Given the description of an element on the screen output the (x, y) to click on. 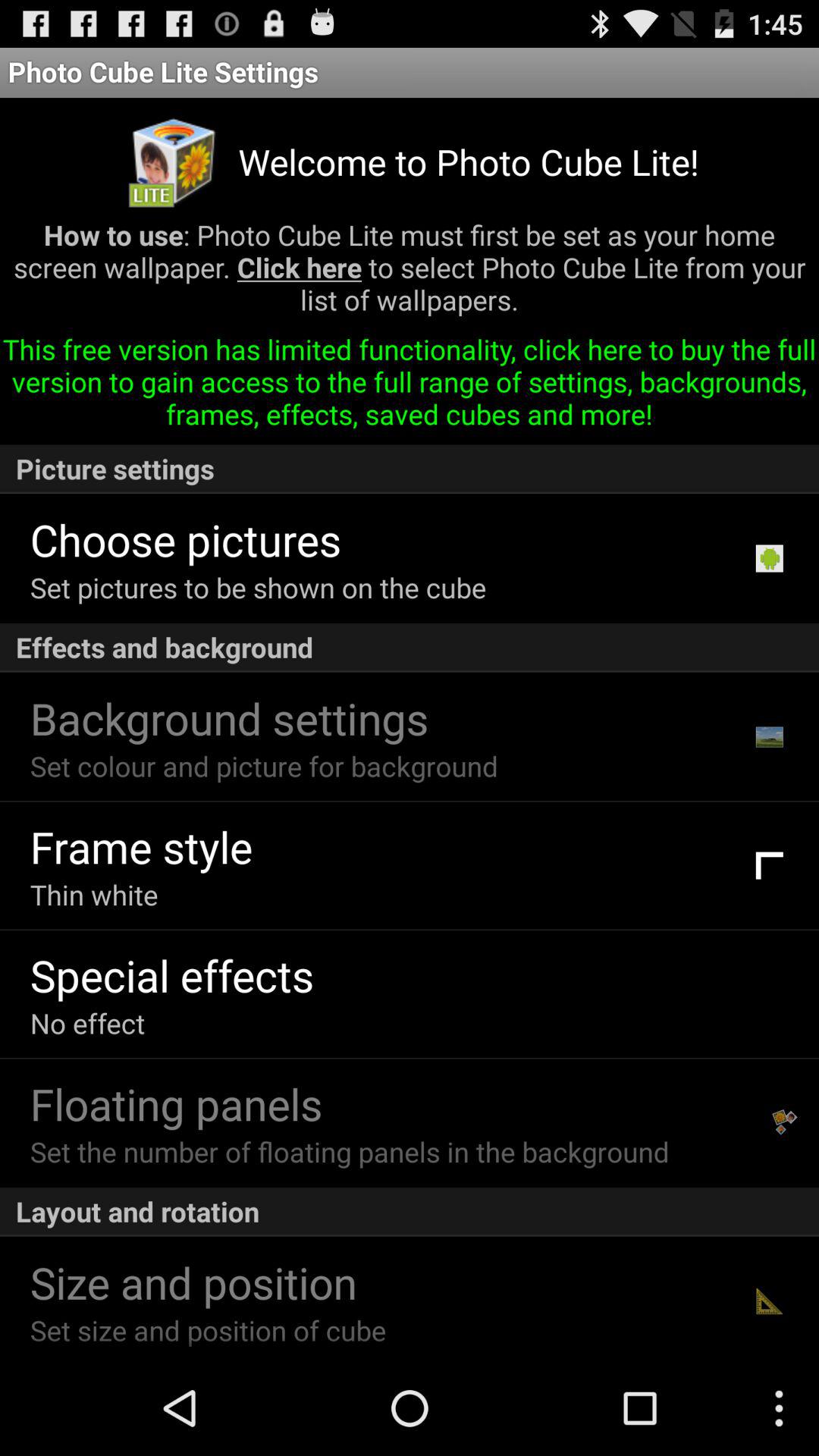
open the this free version icon (409, 387)
